Given the description of an element on the screen output the (x, y) to click on. 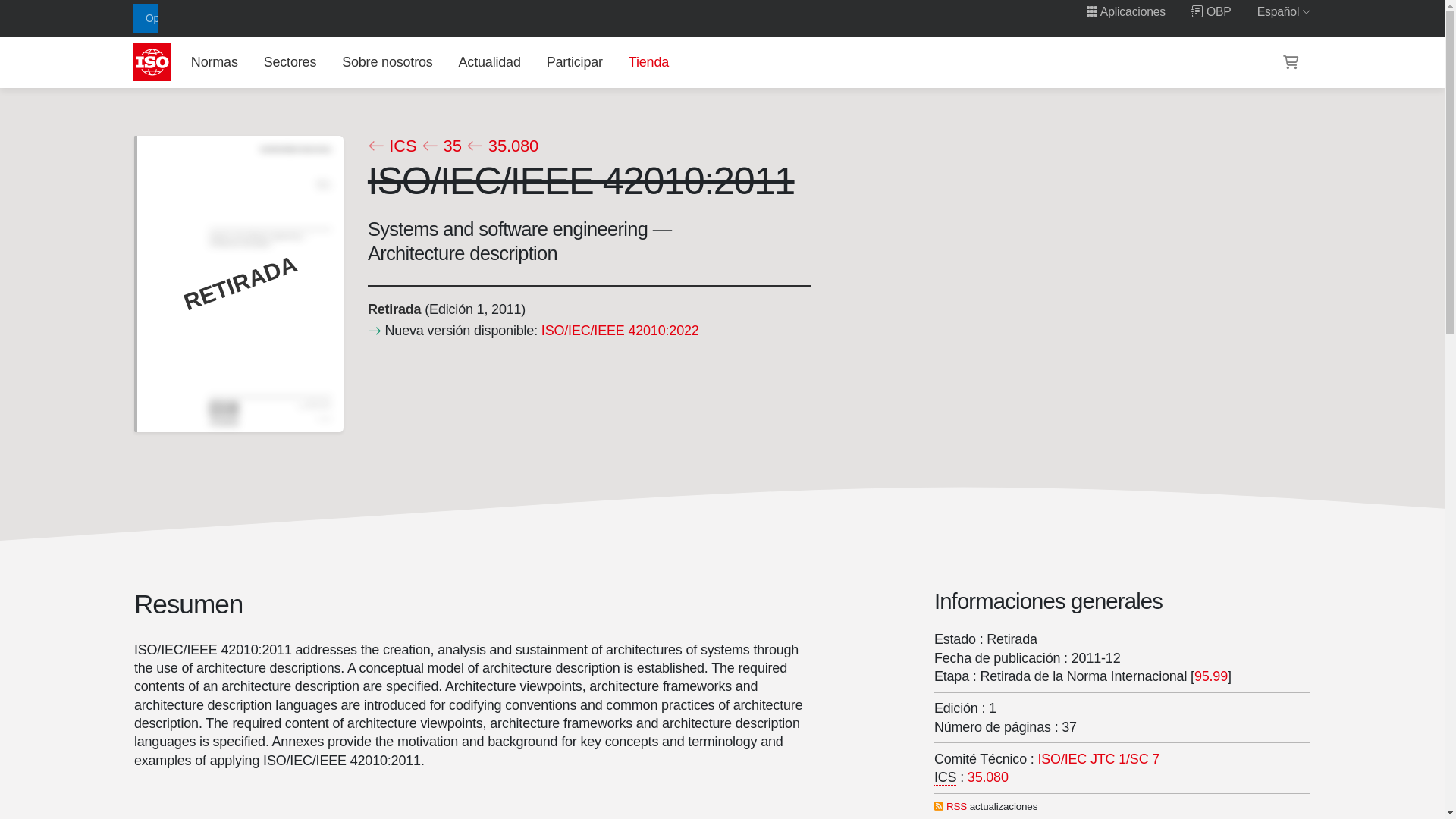
Portal de aplicaciones de ISO (1126, 11)
Ciclo de vida (393, 309)
Software and systems engineering (1099, 758)
Participar (574, 60)
Software (988, 777)
Carro de la compra (1290, 62)
RSS (956, 807)
35 (441, 146)
95.99 (1210, 676)
